Given the description of an element on the screen output the (x, y) to click on. 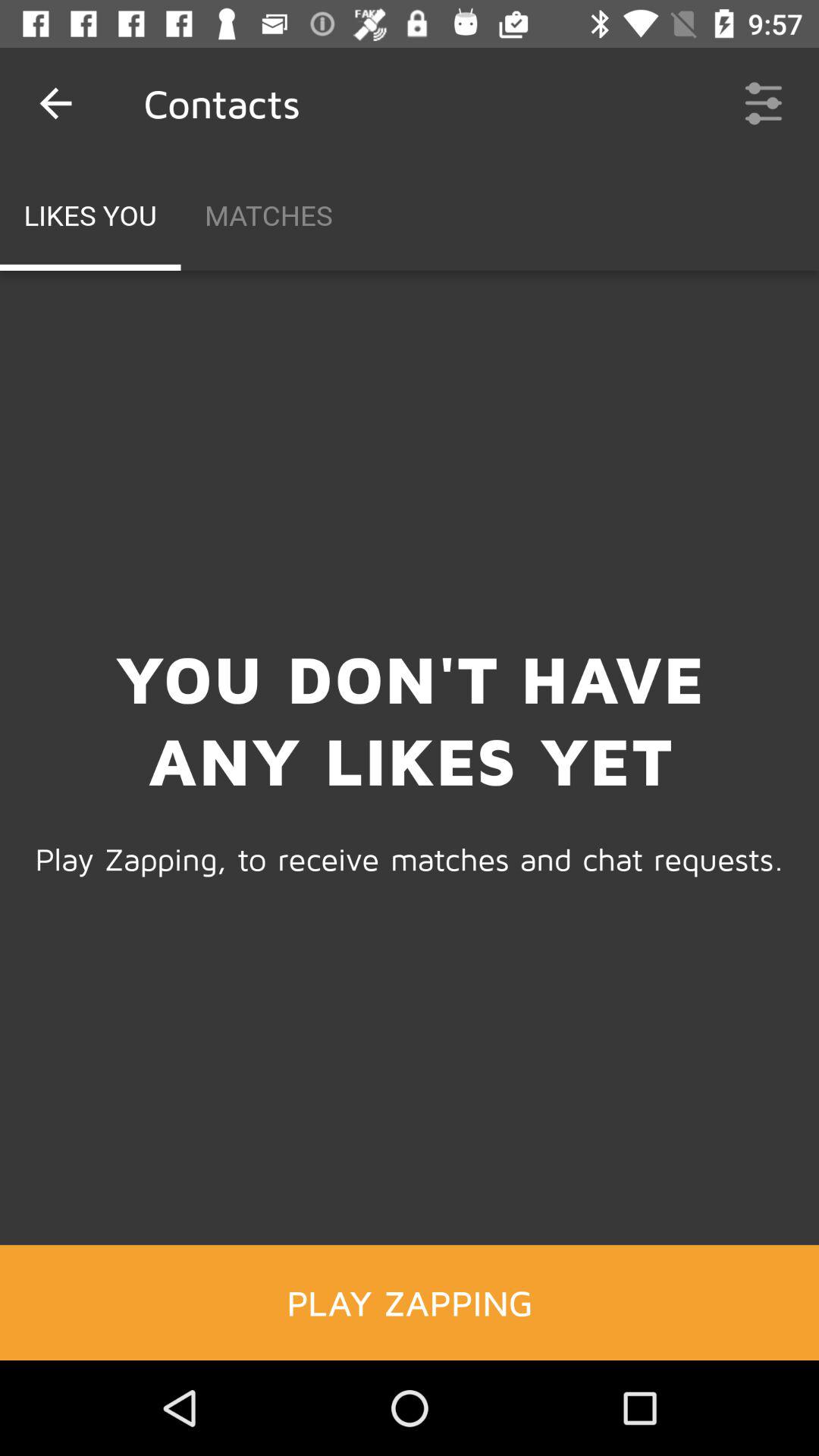
choose icon next to contacts item (55, 103)
